Given the description of an element on the screen output the (x, y) to click on. 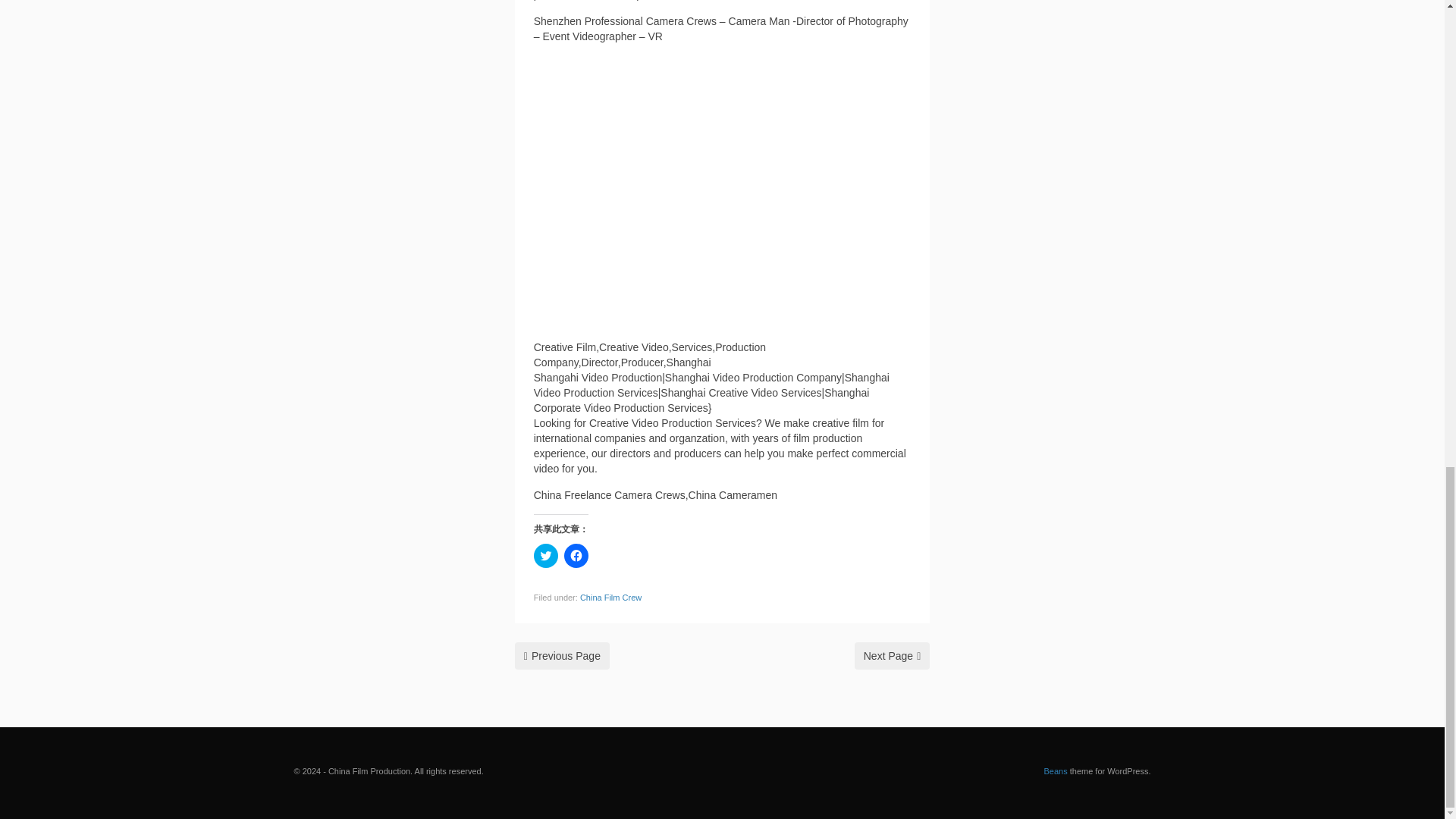
Previous Page (562, 655)
Beans (1055, 770)
Click to share on Facebook (576, 555)
Click to share on Twitter (545, 555)
Next Page (892, 655)
China Film Crew (610, 596)
